Given the description of an element on the screen output the (x, y) to click on. 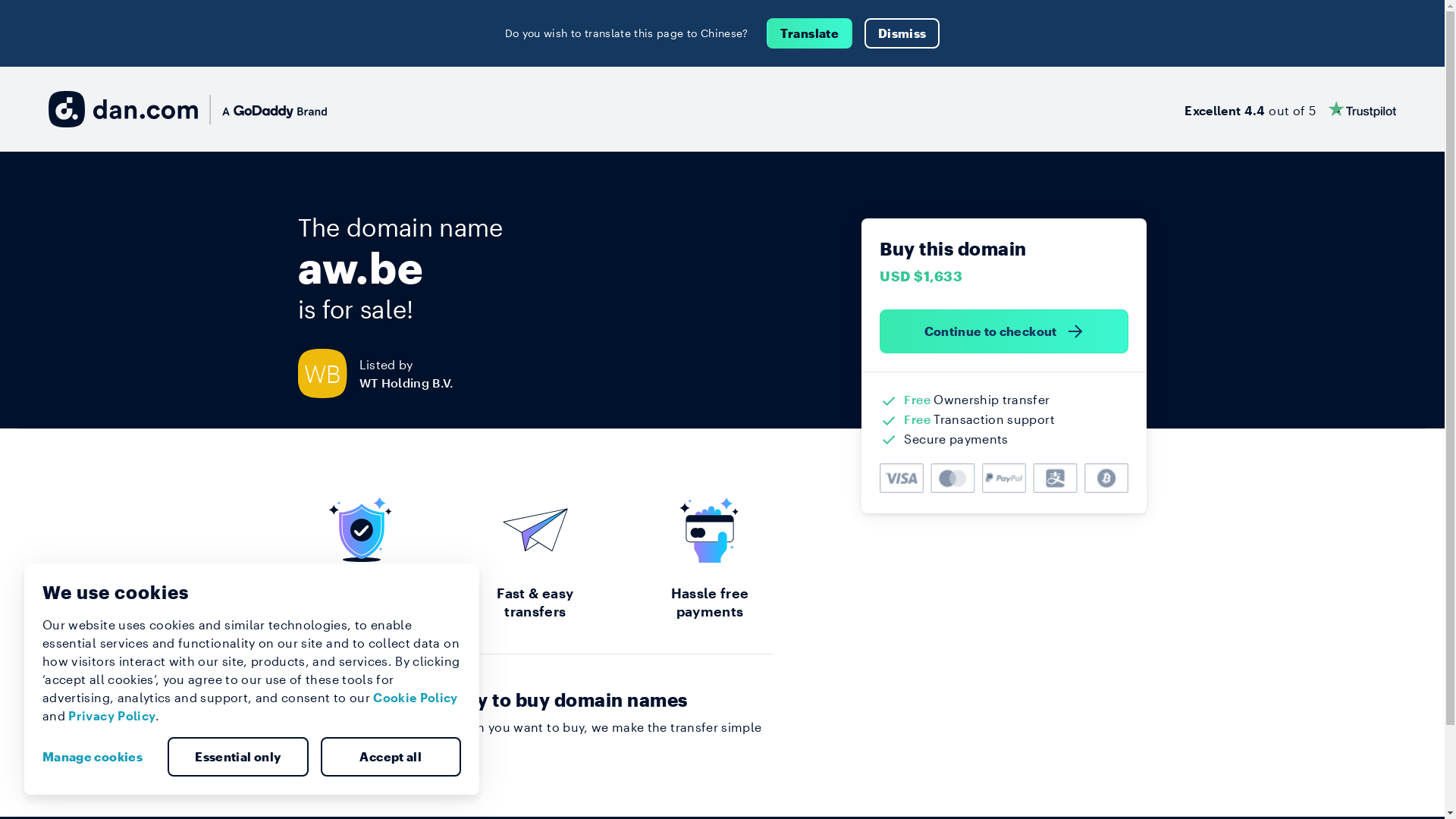
Essential only Element type: text (237, 756)
Dismiss Element type: text (901, 33)
Continue to checkout
) Element type: text (1003, 331)
Cookie Policy Element type: text (415, 697)
Privacy Policy Element type: text (111, 715)
Translate Element type: text (809, 33)
Manage cookies Element type: text (98, 756)
Excellent 4.4 out of 5 Element type: text (1290, 109)
Accept all Element type: text (390, 756)
